Given the description of an element on the screen output the (x, y) to click on. 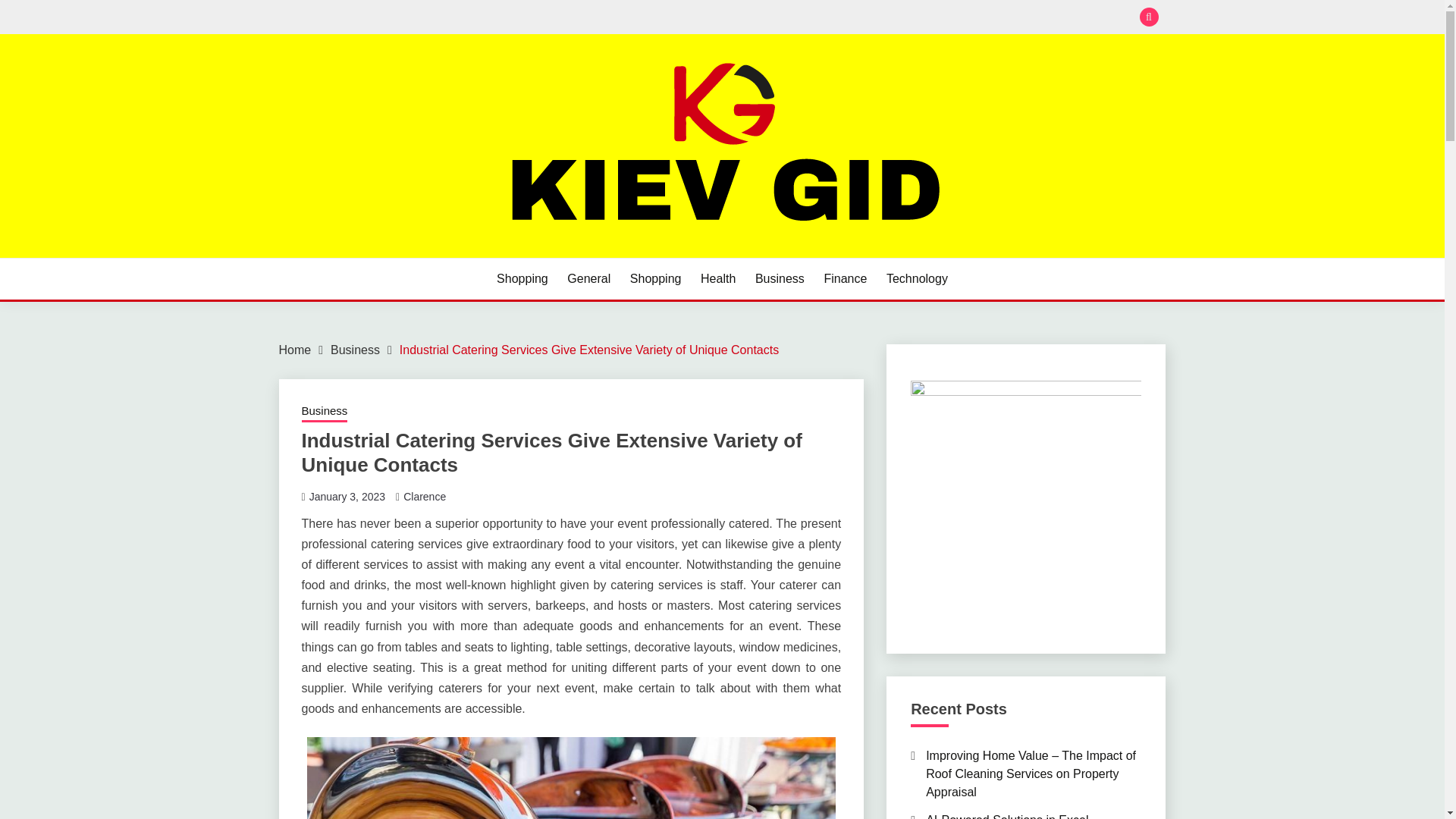
Technology (916, 279)
Health (717, 279)
Home (295, 349)
January 3, 2023 (346, 495)
Finance (845, 279)
Shopping (522, 279)
Search (832, 18)
KIEV GID (340, 255)
Clarence (424, 495)
General (588, 279)
